Given the description of an element on the screen output the (x, y) to click on. 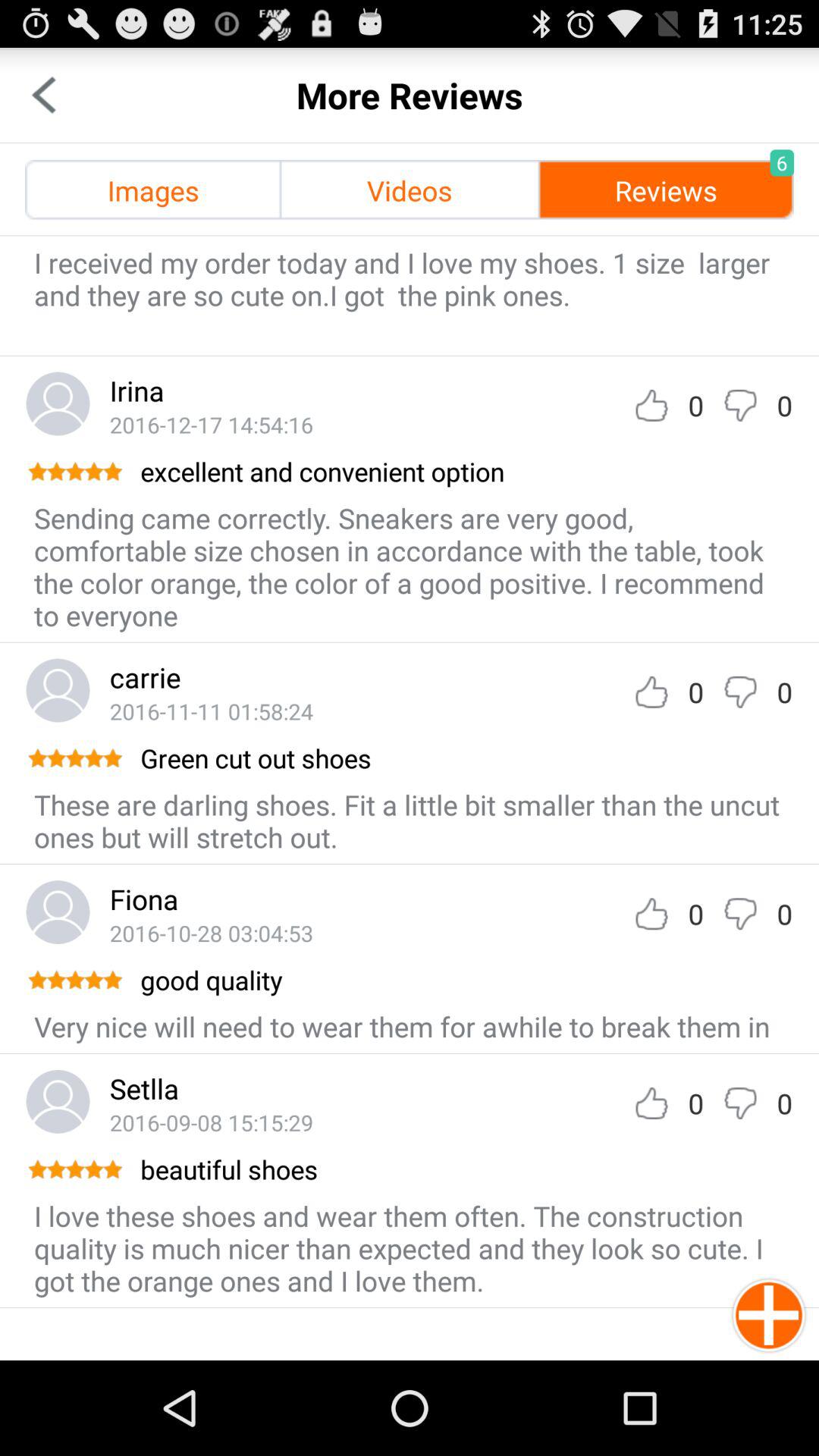
choose the app above the green cut out (211, 711)
